Given the description of an element on the screen output the (x, y) to click on. 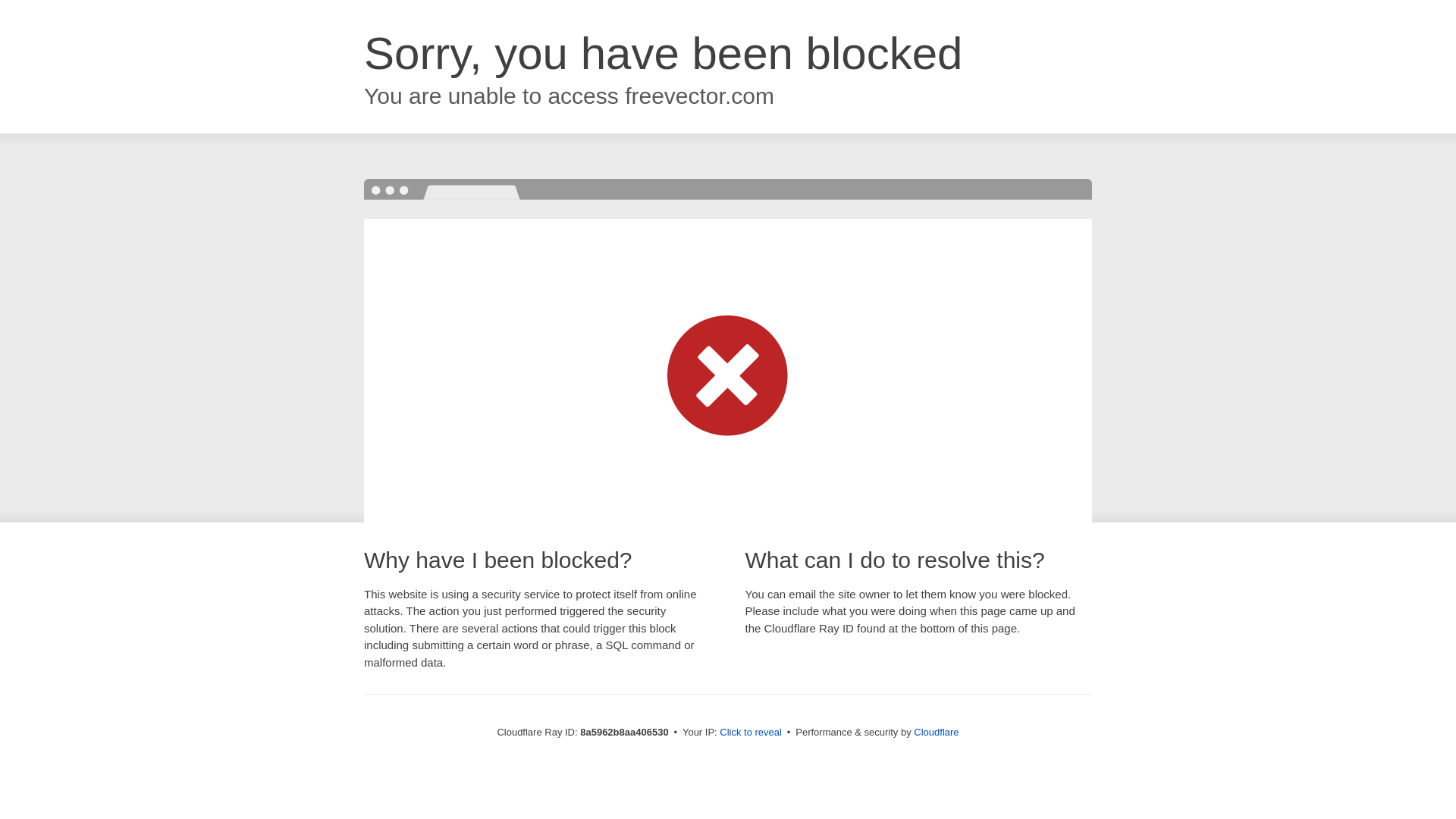
Cloudflare (936, 731)
Click to reveal (750, 732)
